Given the description of an element on the screen output the (x, y) to click on. 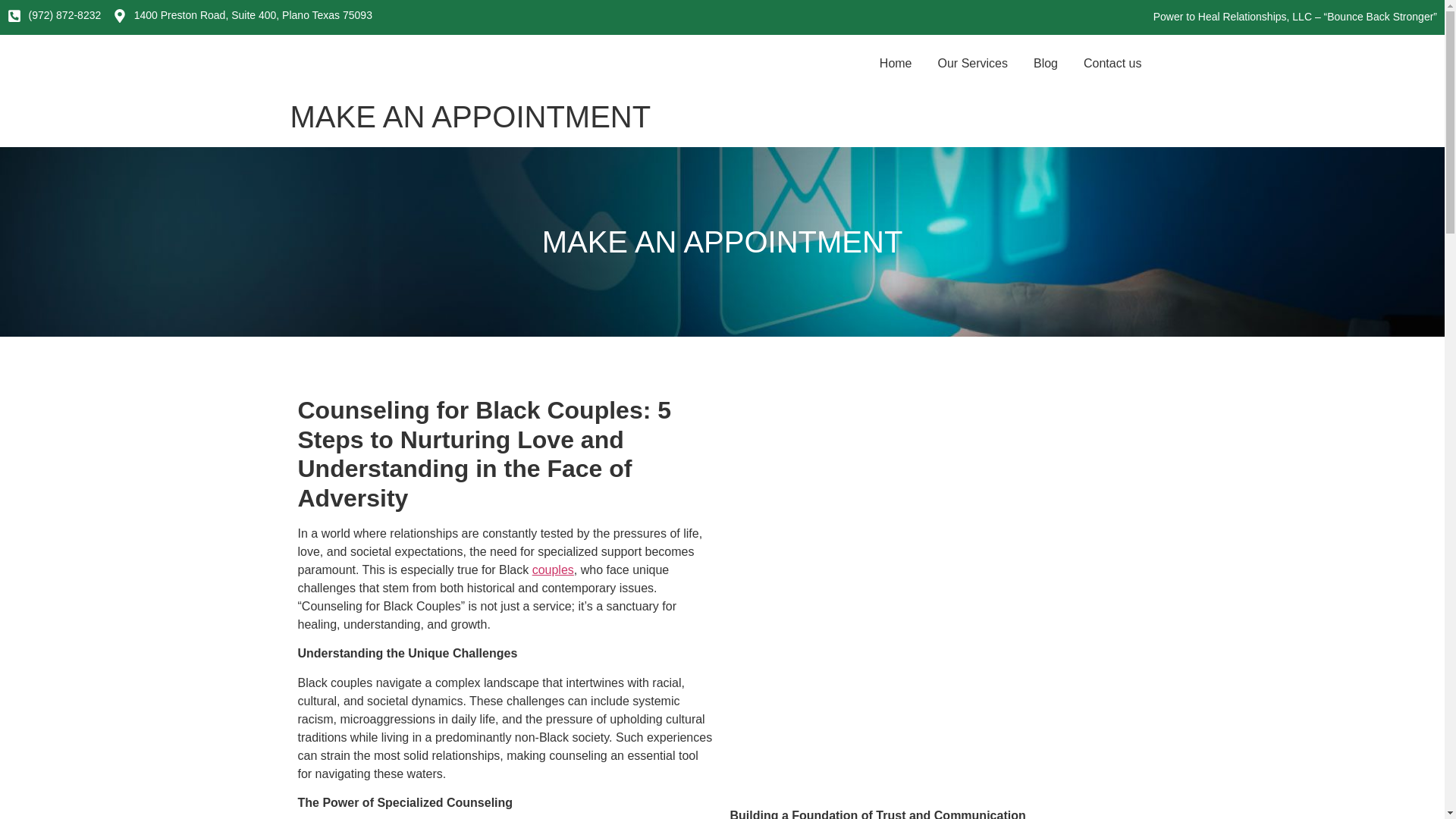
Contact us (1112, 63)
Our Services (973, 63)
couples (552, 569)
Home (896, 63)
